Given the description of an element on the screen output the (x, y) to click on. 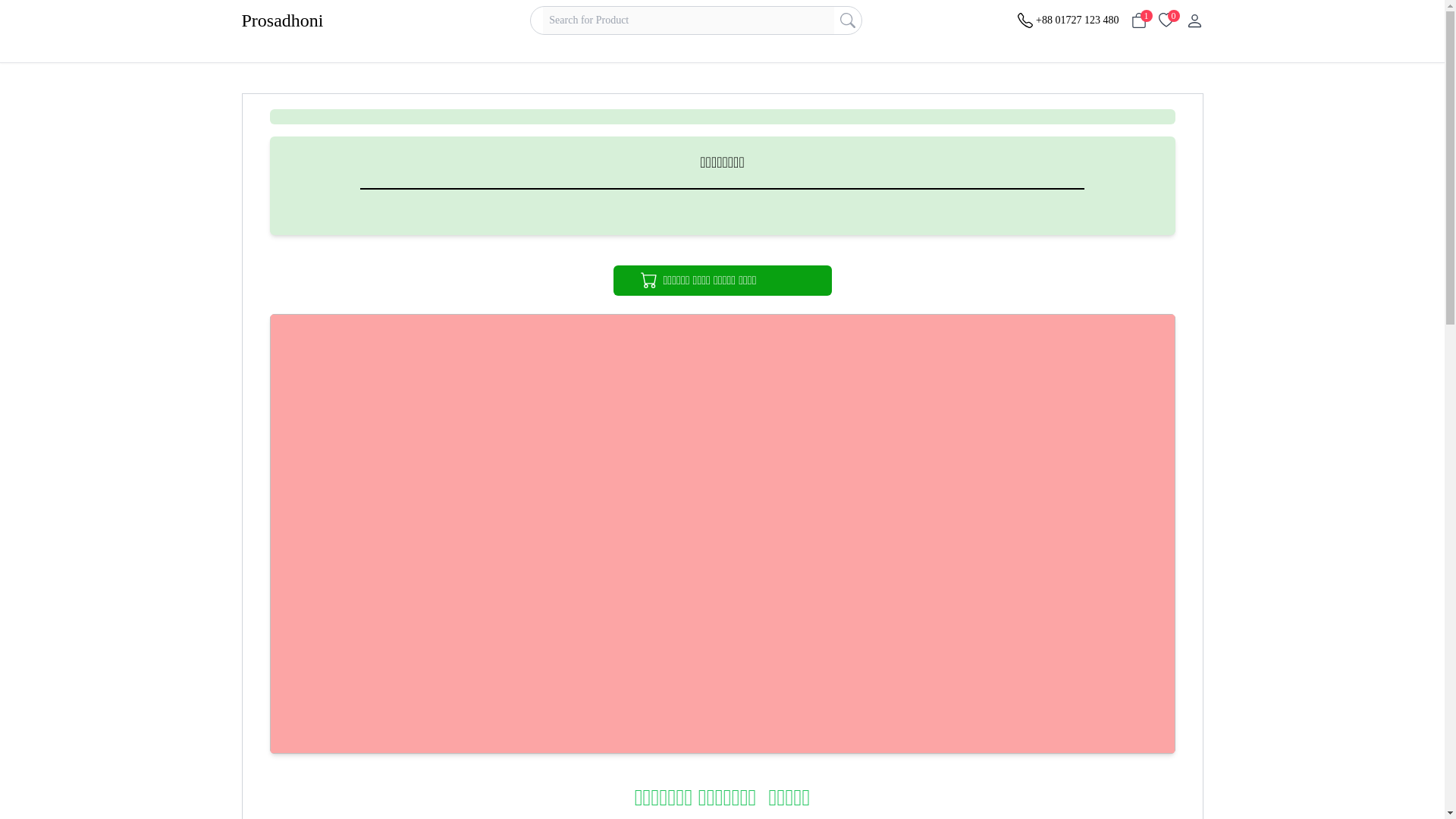
Prosadhoni (307, 20)
1 (1139, 20)
0 (1165, 20)
